Given the description of an element on the screen output the (x, y) to click on. 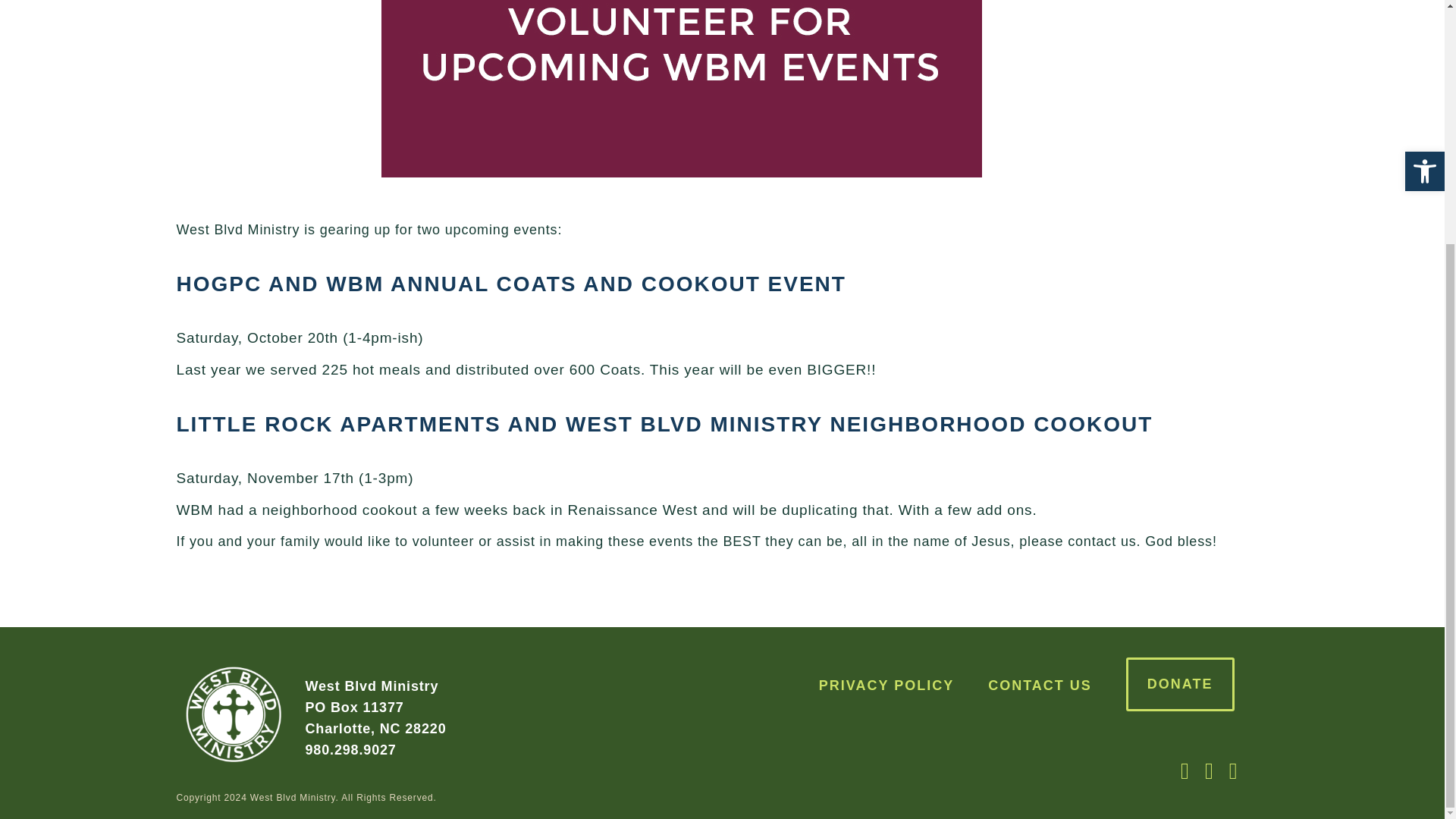
DONATE (1179, 684)
PRIVACY POLICY (885, 685)
CONTACT US (1040, 685)
980.298.9027 (350, 749)
contact us (1101, 540)
